Given the description of an element on the screen output the (x, y) to click on. 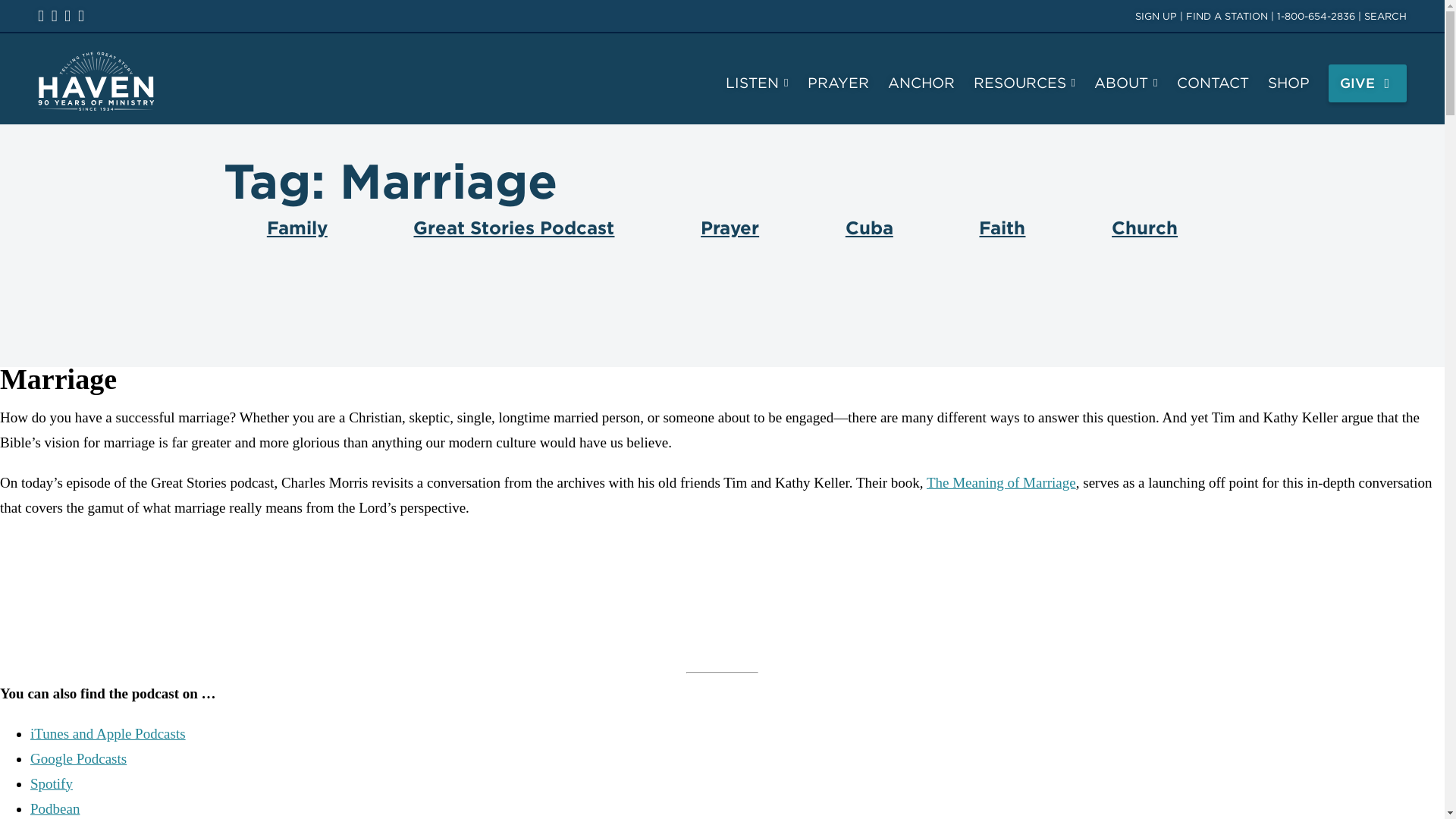
RESOURCES (1024, 83)
ABOUT (1125, 83)
SEARCH (1385, 16)
SIGN UP (1155, 16)
ANCHOR (921, 83)
CONTACT (1212, 83)
SHOP (1288, 83)
FIND A STATION (1227, 16)
PRAYER (838, 83)
LISTEN (756, 83)
